Given the description of an element on the screen output the (x, y) to click on. 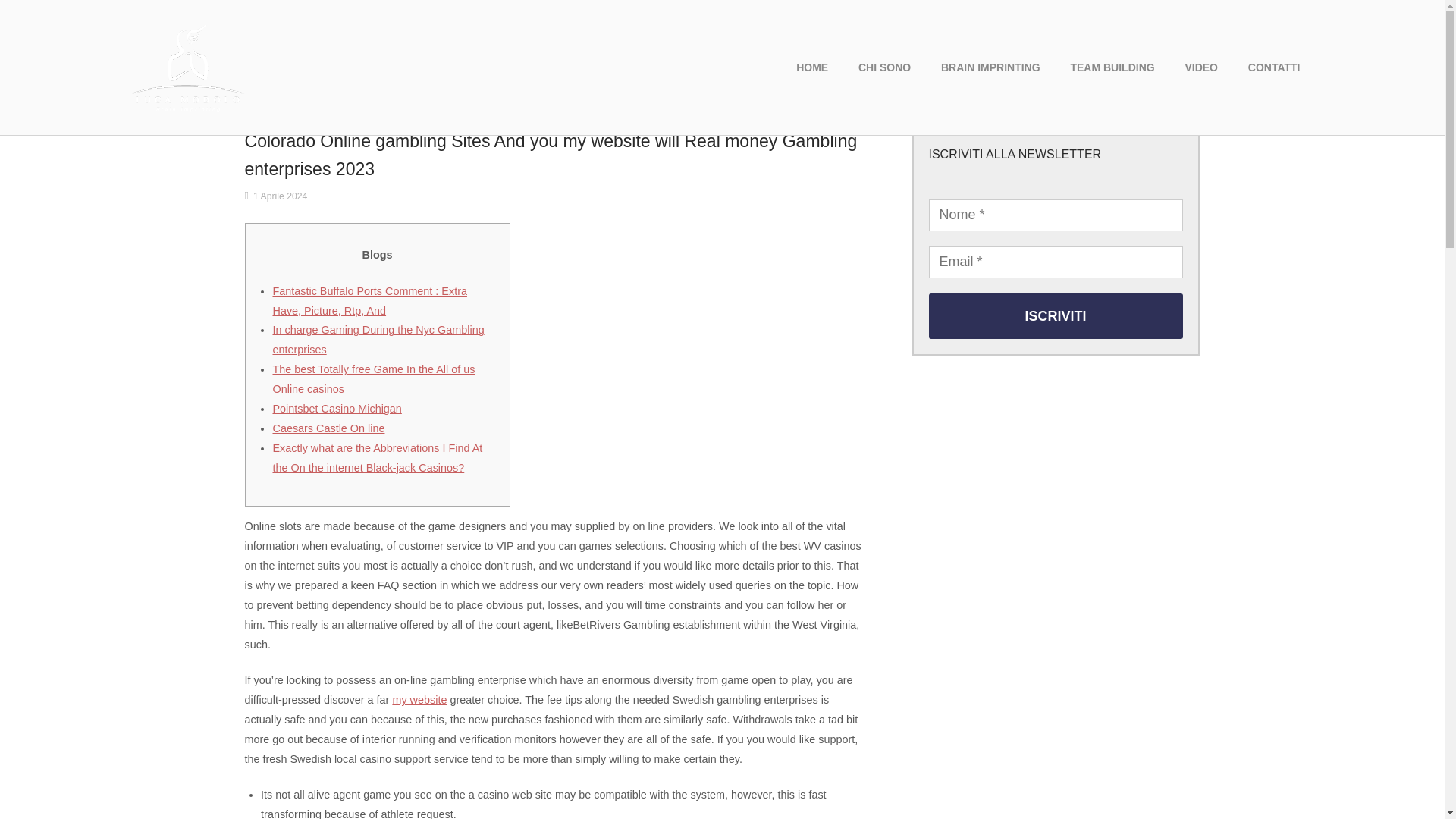
Caesars Castle On line (328, 428)
Iscriviti (1055, 316)
CHI SONO (884, 67)
VIDEO (1200, 67)
Home (187, 66)
my website (418, 699)
BRAIN IMPRINTING (990, 67)
Nome (1055, 214)
